Given the description of an element on the screen output the (x, y) to click on. 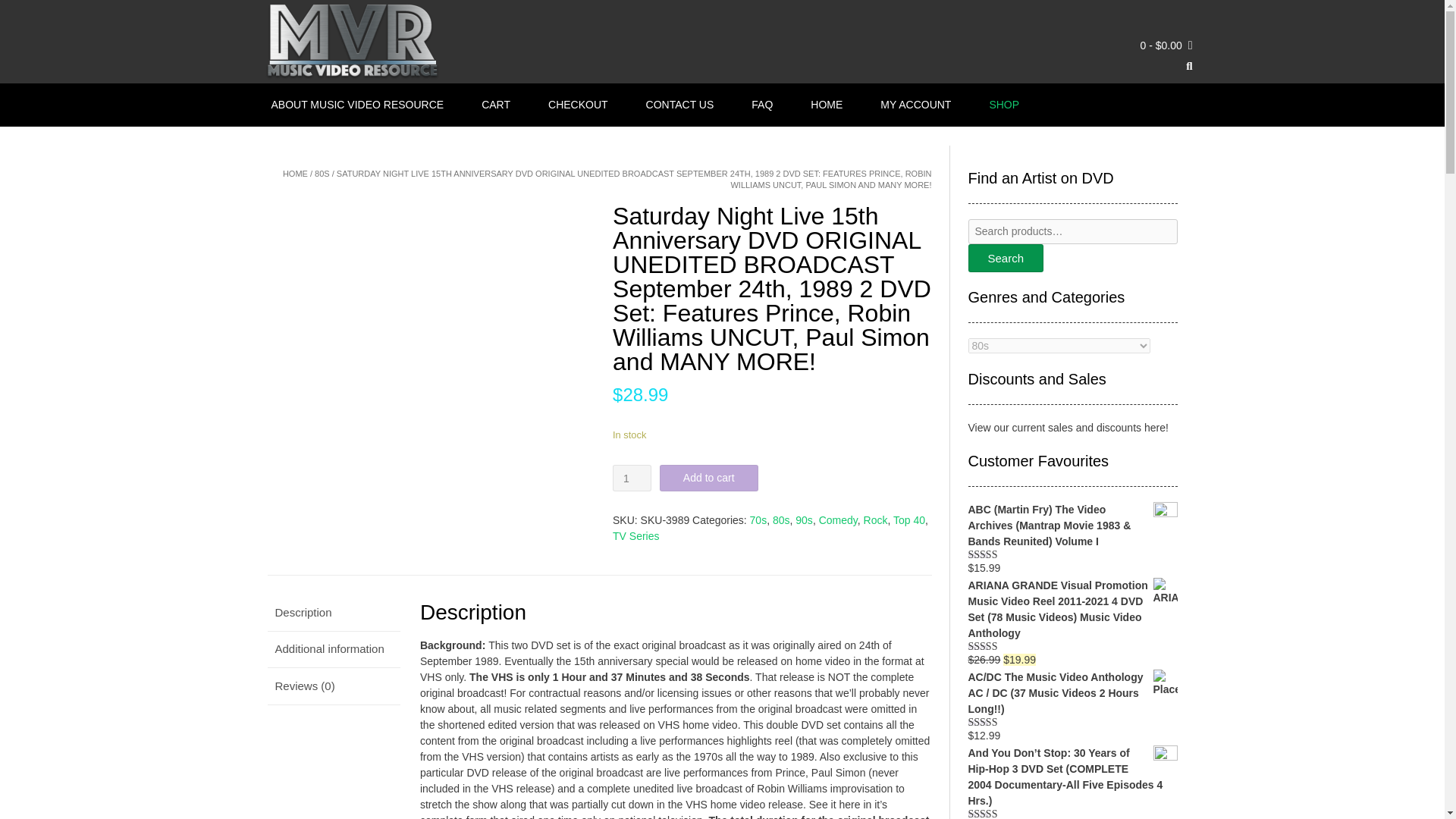
90s (803, 520)
SHOP (1003, 104)
Additional information (333, 649)
Rock (875, 520)
HOME (294, 173)
View your shopping cart (1166, 45)
80s (781, 520)
Add to cart (708, 478)
1 (631, 478)
ABOUT MUSIC VIDEO RESOURCE (358, 104)
